Given the description of an element on the screen output the (x, y) to click on. 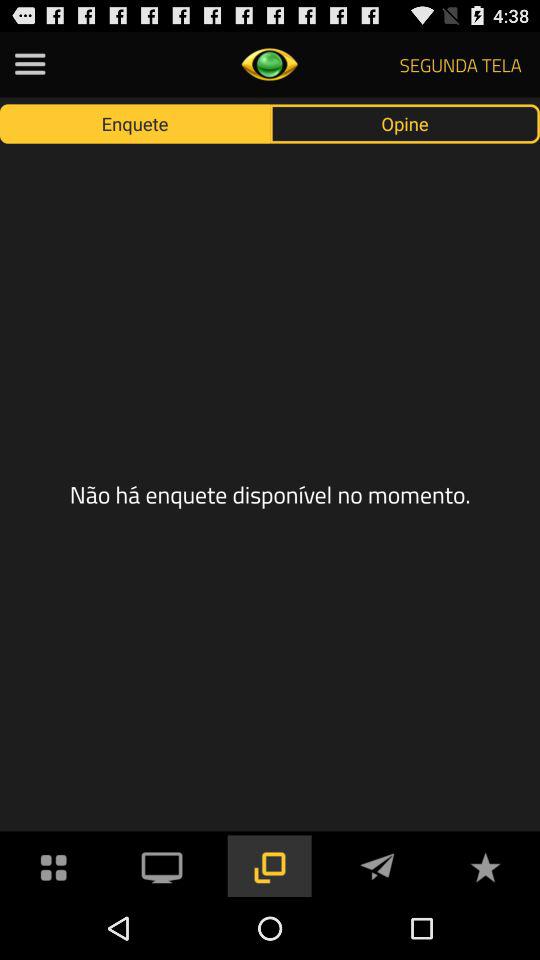
message (377, 865)
